Given the description of an element on the screen output the (x, y) to click on. 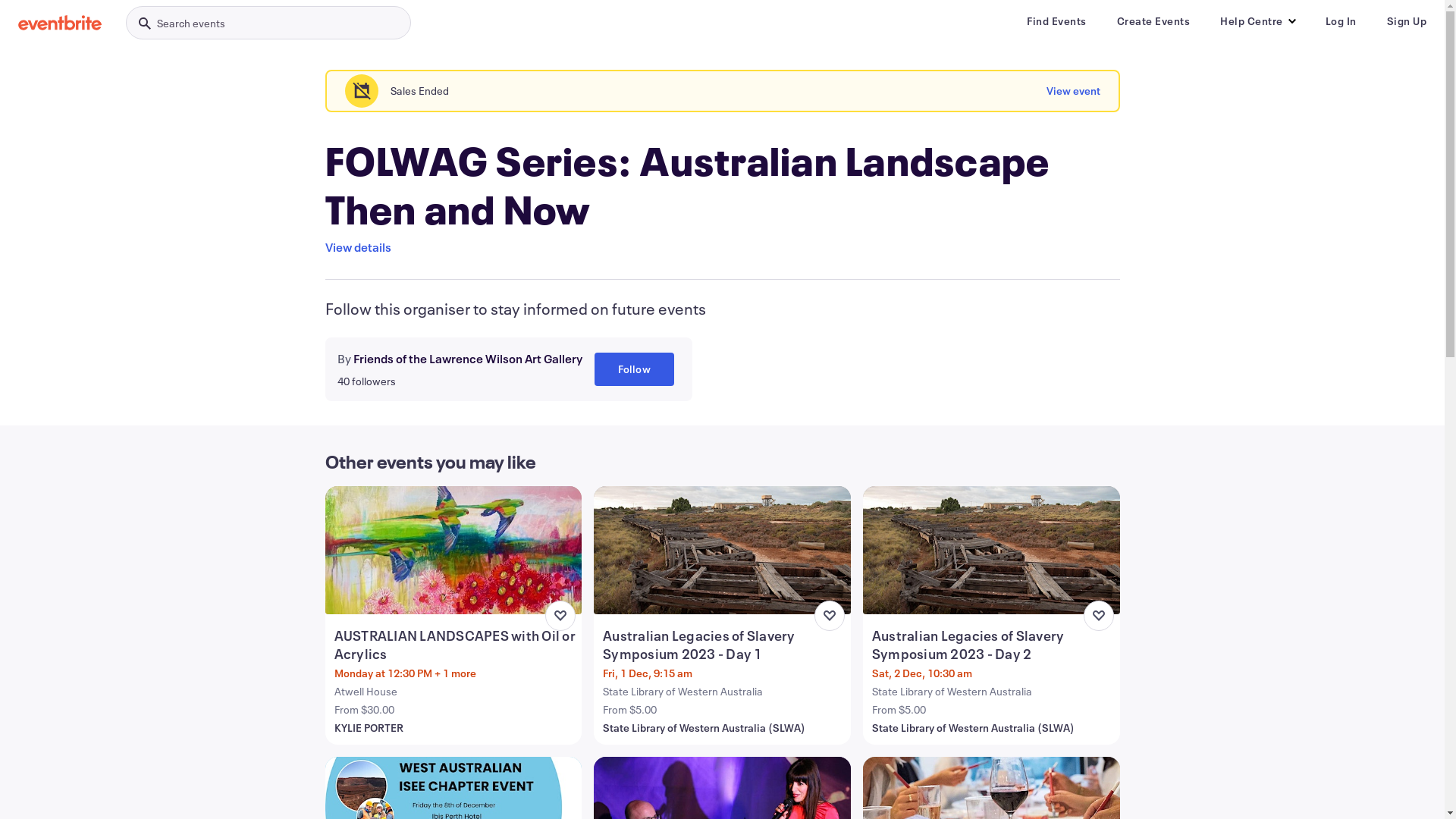
Follow Element type: text (634, 368)
Search events Element type: text (268, 22)
Find Events Element type: text (1056, 21)
Sign Up Element type: text (1406, 21)
Log In Element type: text (1340, 21)
View details Element type: text (357, 246)
Australian Legacies of Slavery Symposium 2023 - Day 2 Element type: text (992, 644)
Create Events Element type: text (1152, 21)
View event Element type: text (1073, 90)
AUSTRALIAN LANDSCAPES with Oil or Acrylics Element type: text (454, 644)
Eventbrite Element type: hover (59, 22)
Australian Legacies of Slavery Symposium 2023 - Day 1 Element type: text (723, 644)
